Given the description of an element on the screen output the (x, y) to click on. 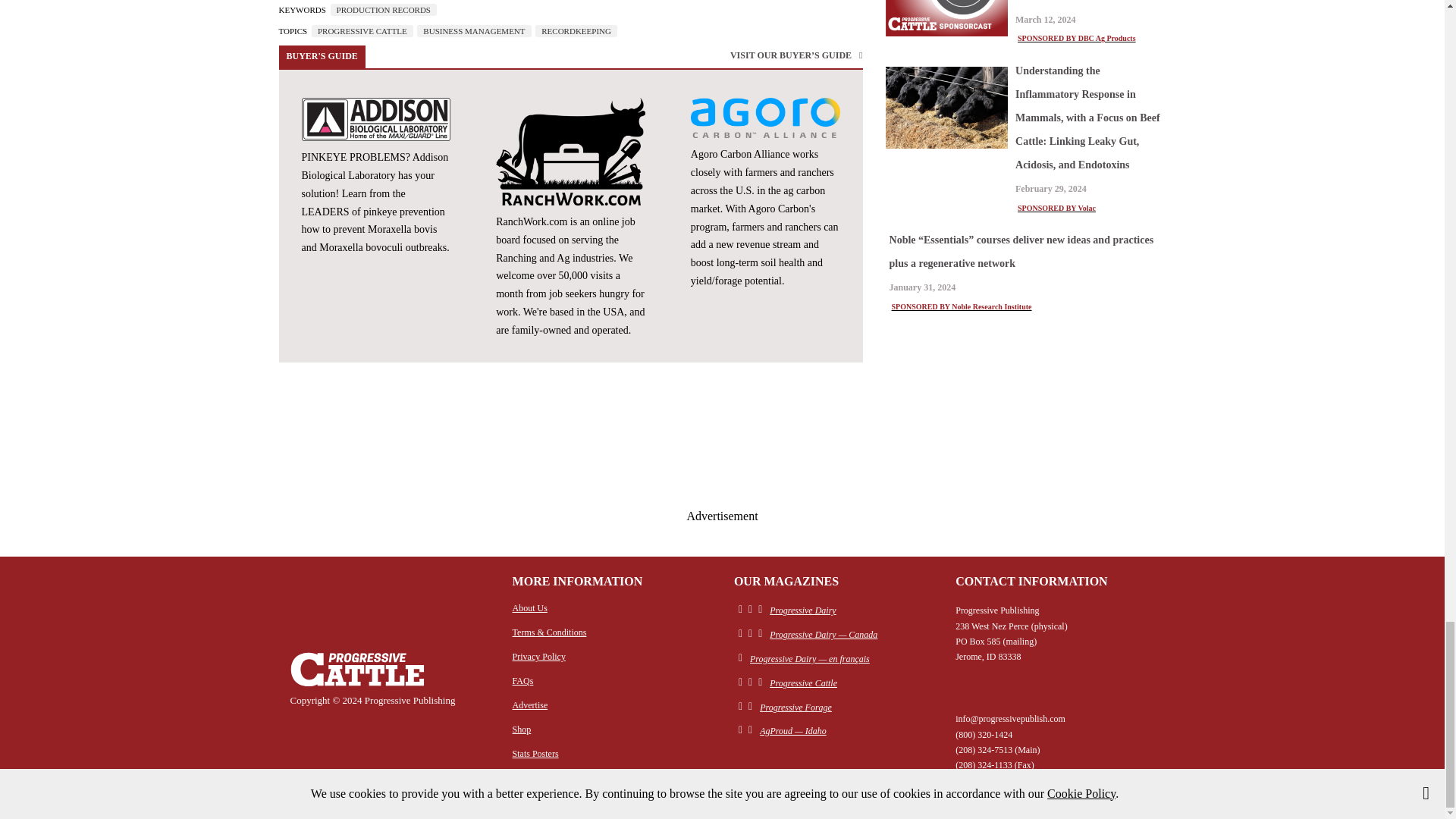
PC-sponsorcast-newsletter.png (947, 18)
volac-beef-feedng-light.jpg (947, 107)
